Given the description of an element on the screen output the (x, y) to click on. 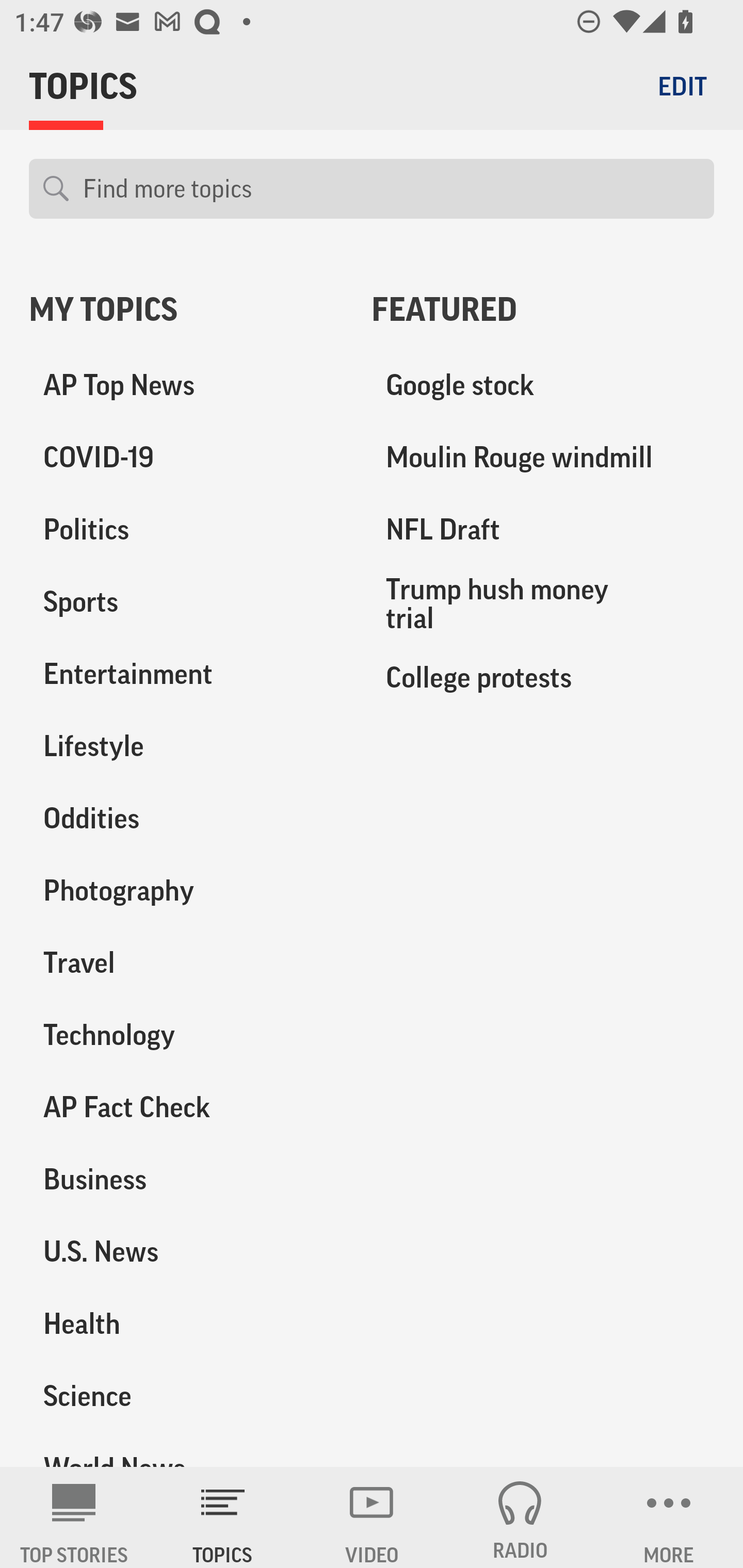
EDIT (682, 86)
Find more topics (391, 188)
AP Top News (185, 385)
Google stock (542, 385)
COVID-19 (185, 457)
Moulin Rouge windmill (542, 457)
Politics (185, 529)
NFL Draft (542, 529)
Sports (185, 602)
Trump hush money trial (542, 603)
Entertainment (185, 674)
College protests (542, 677)
Lifestyle (185, 746)
Oddities (185, 818)
Photography (185, 890)
Travel (185, 962)
Technology (185, 1034)
AP Fact Check (185, 1106)
Business (185, 1179)
U.S. News (185, 1251)
Health (185, 1323)
Science (185, 1395)
AP News TOP STORIES (74, 1517)
TOPICS (222, 1517)
VIDEO (371, 1517)
RADIO (519, 1517)
MORE (668, 1517)
